Given the description of an element on the screen output the (x, y) to click on. 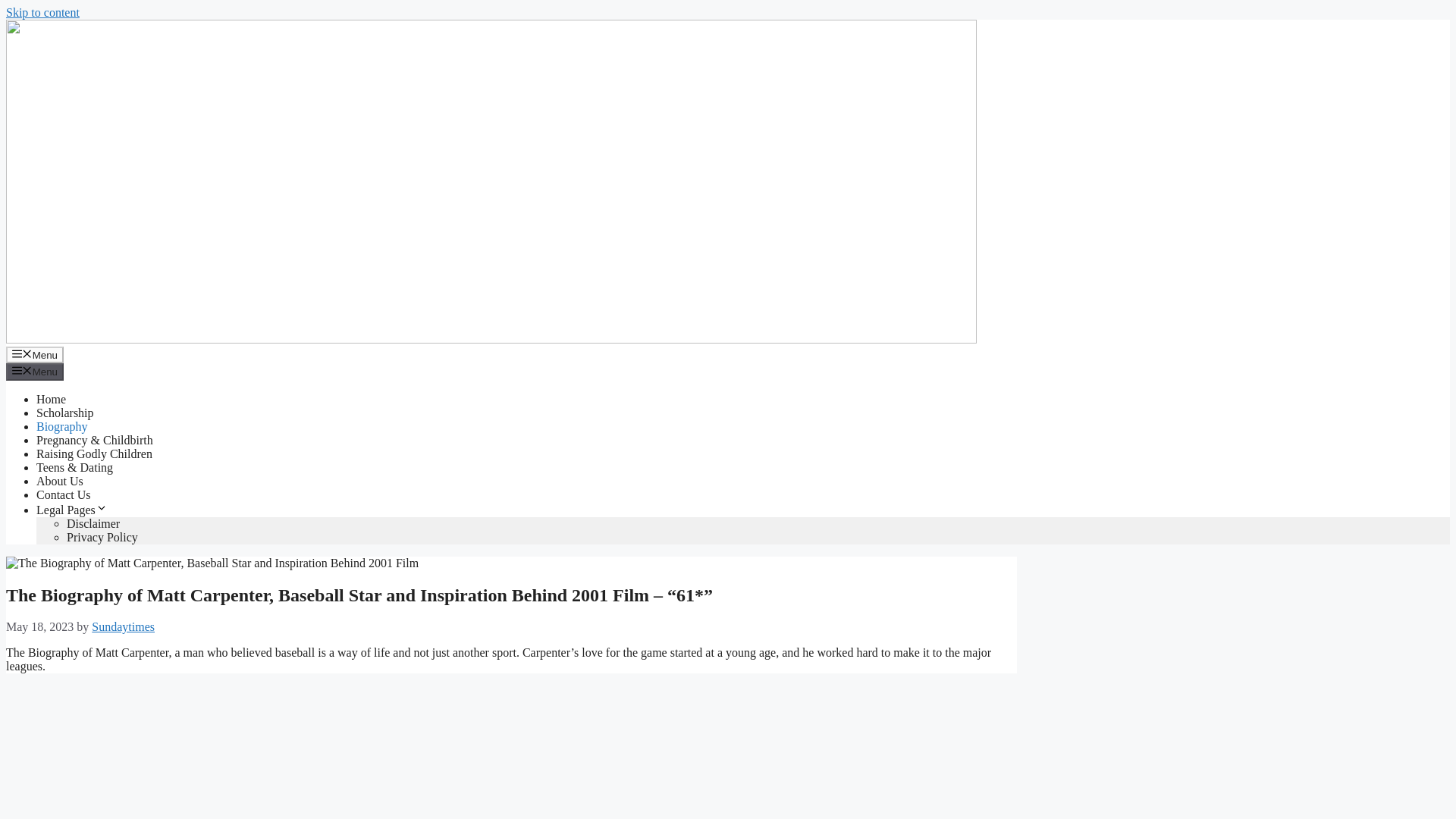
Menu (34, 354)
Home (50, 399)
View all posts by Sundaytimes (122, 626)
Biography (61, 426)
Menu (34, 371)
Scholarship (65, 412)
Legal Pages (71, 509)
Raising Godly Children (94, 453)
Skip to content (42, 11)
Disclaimer (92, 522)
About Us (59, 481)
Skip to content (42, 11)
Sundaytimes (122, 626)
Privacy Policy (102, 536)
Contact Us (63, 494)
